Given the description of an element on the screen output the (x, y) to click on. 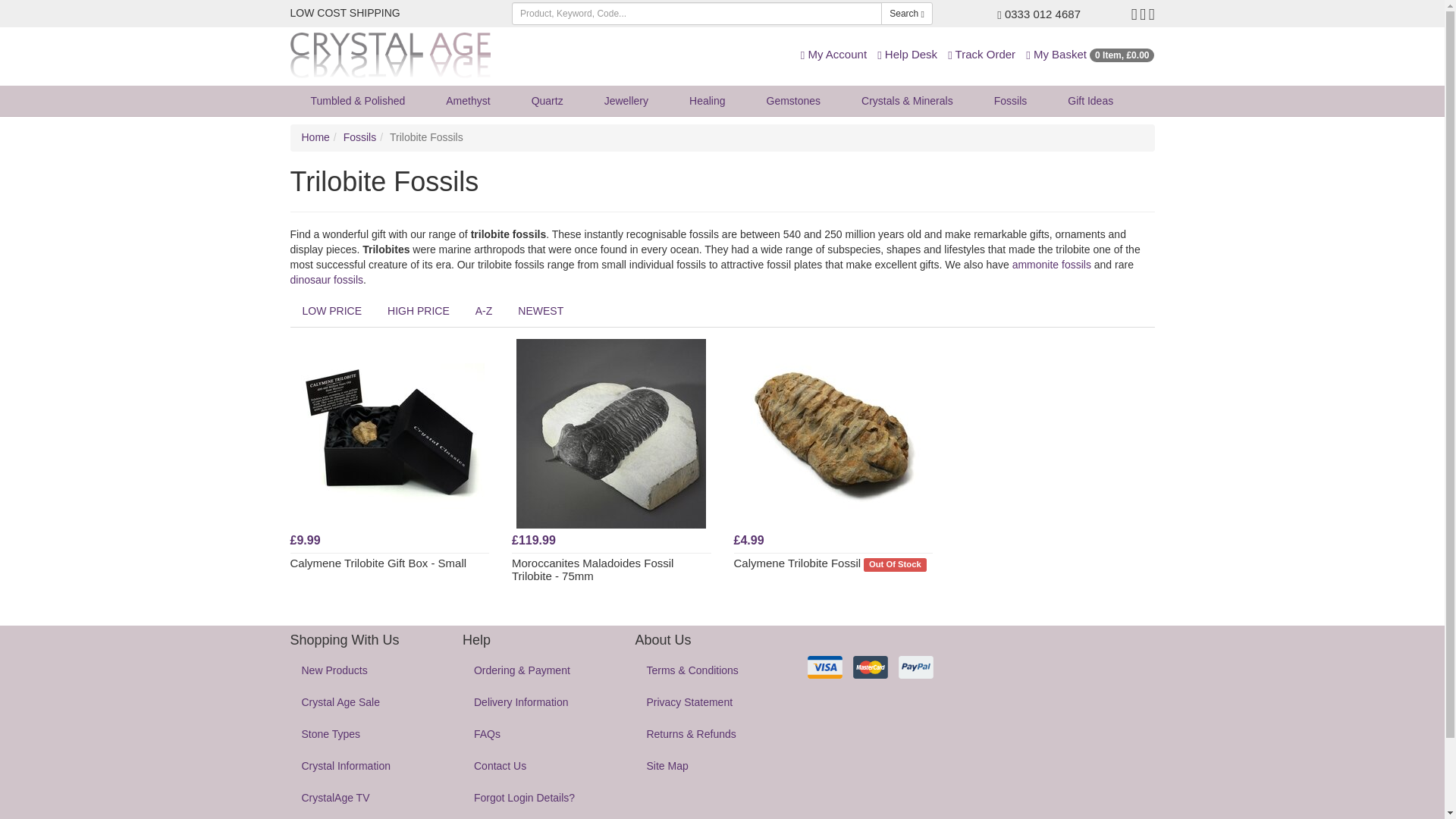
0333 012 4687 (1038, 13)
My Account (833, 53)
LOW COST SHIPPING (343, 12)
Search (906, 13)
Quartz (547, 100)
Help Desk (907, 53)
Track Order (980, 53)
Amethyst (468, 100)
